Given the description of an element on the screen output the (x, y) to click on. 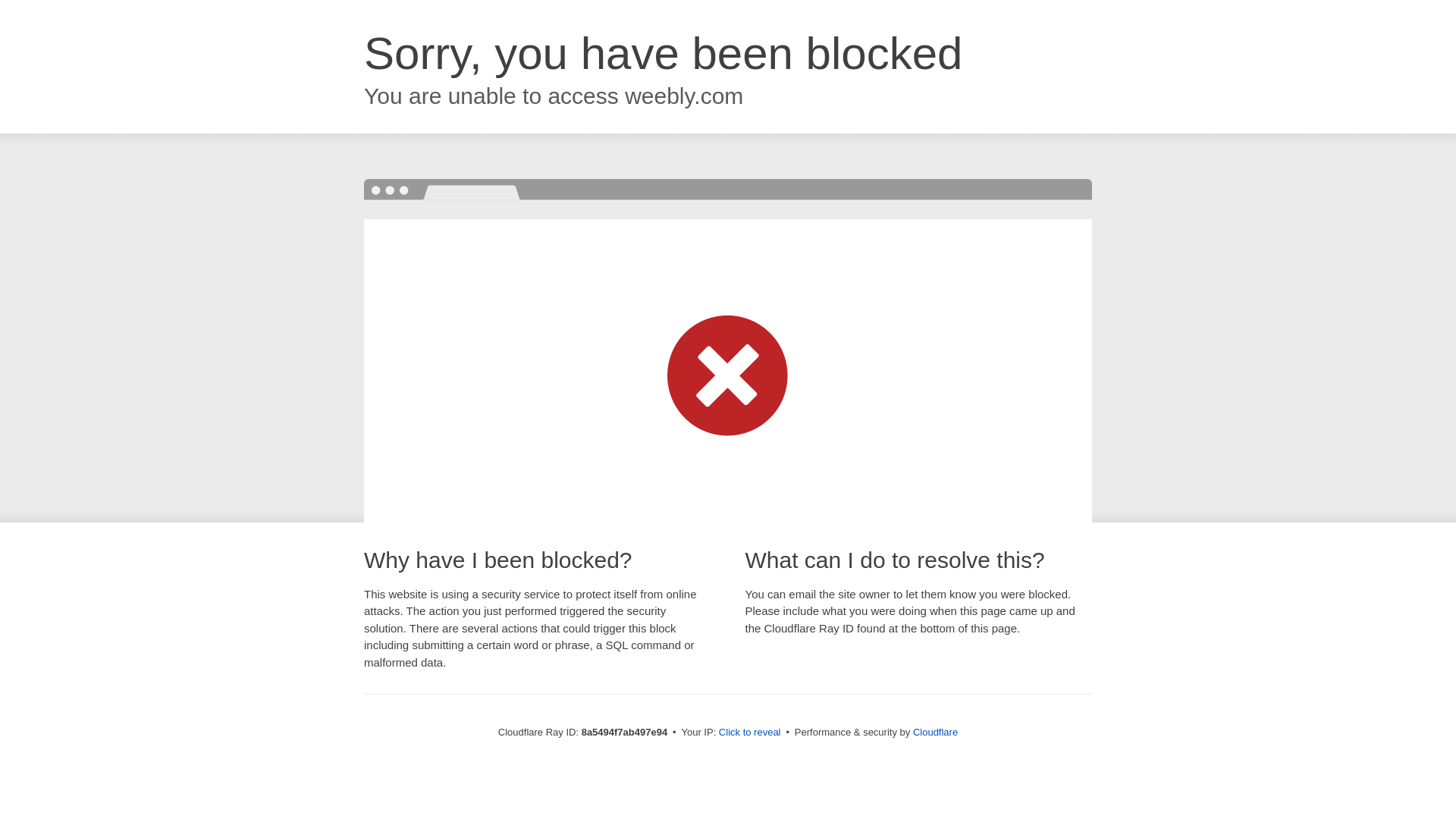
Click to reveal (749, 732)
Cloudflare (935, 731)
